Given the description of an element on the screen output the (x, y) to click on. 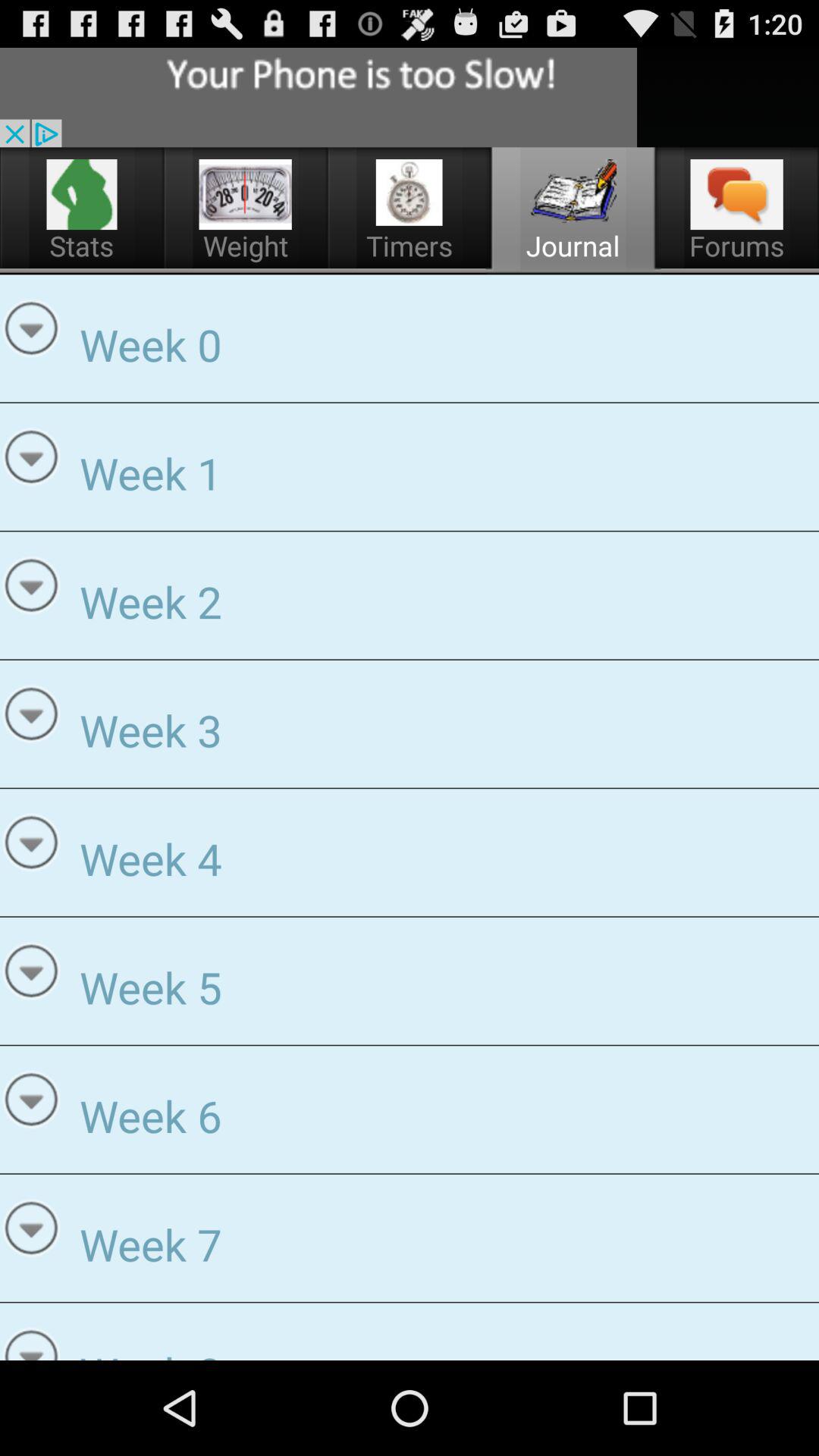
search (318, 97)
